Given the description of an element on the screen output the (x, y) to click on. 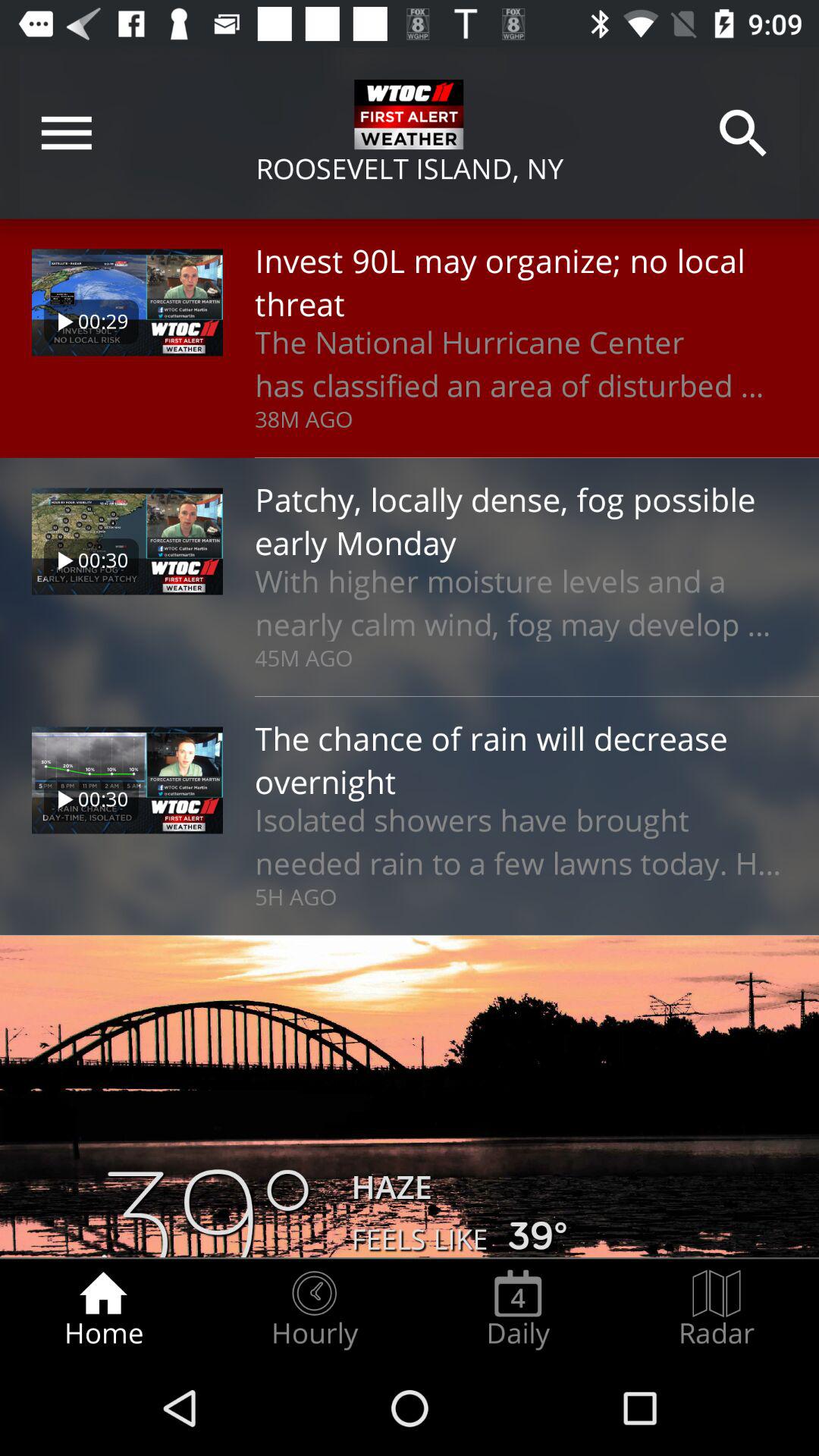
tap icon to the left of the daily (314, 1309)
